Given the description of an element on the screen output the (x, y) to click on. 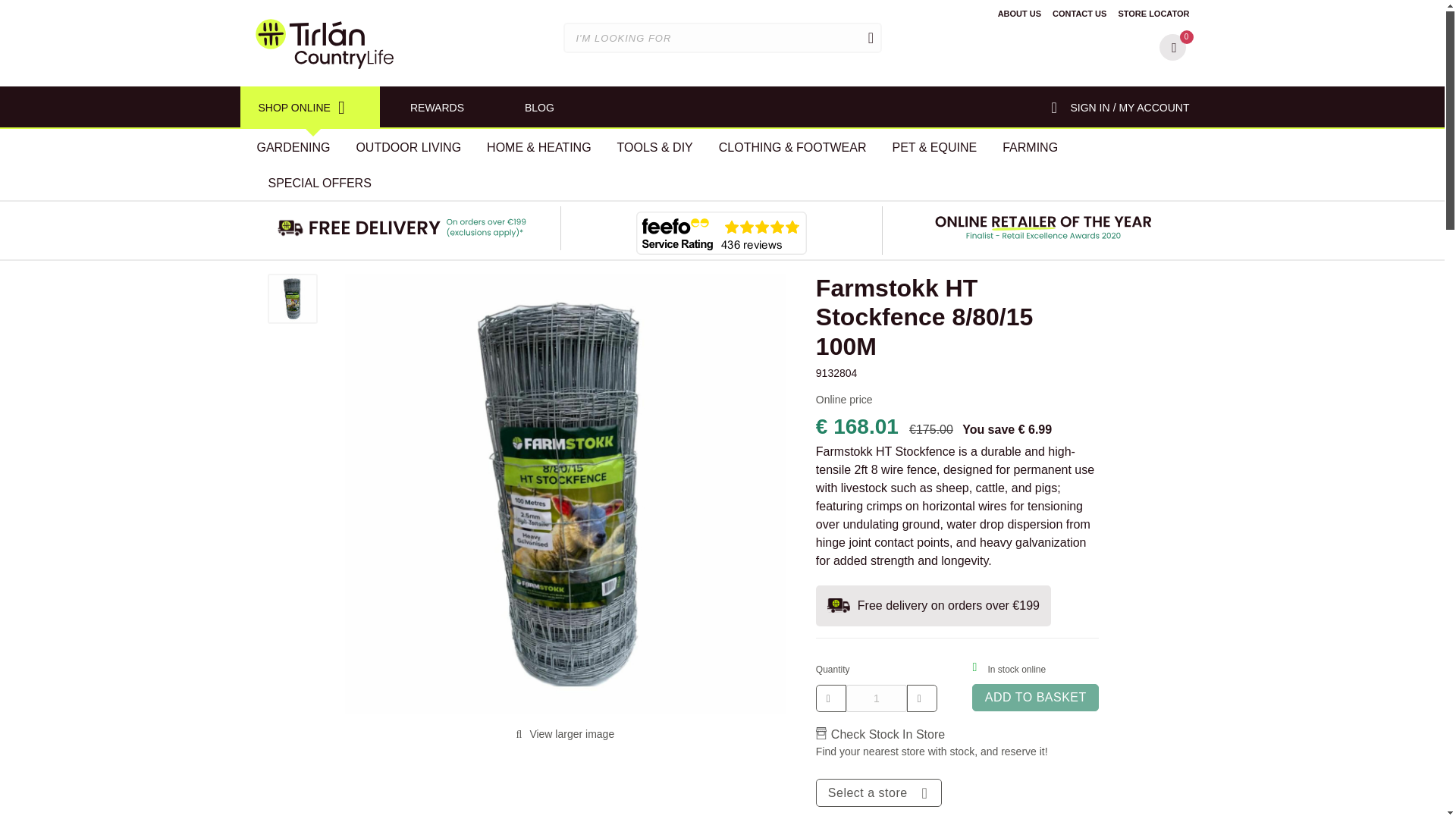
See what our customers say about us (721, 232)
Shop Online (309, 107)
CONTACT US (1079, 13)
SHOP ONLINE (309, 107)
STORE LOCATOR (1153, 13)
ABOUT US (1019, 13)
Countrylife Logo (323, 43)
1 (876, 697)
GARDENING (293, 146)
